Given the description of an element on the screen output the (x, y) to click on. 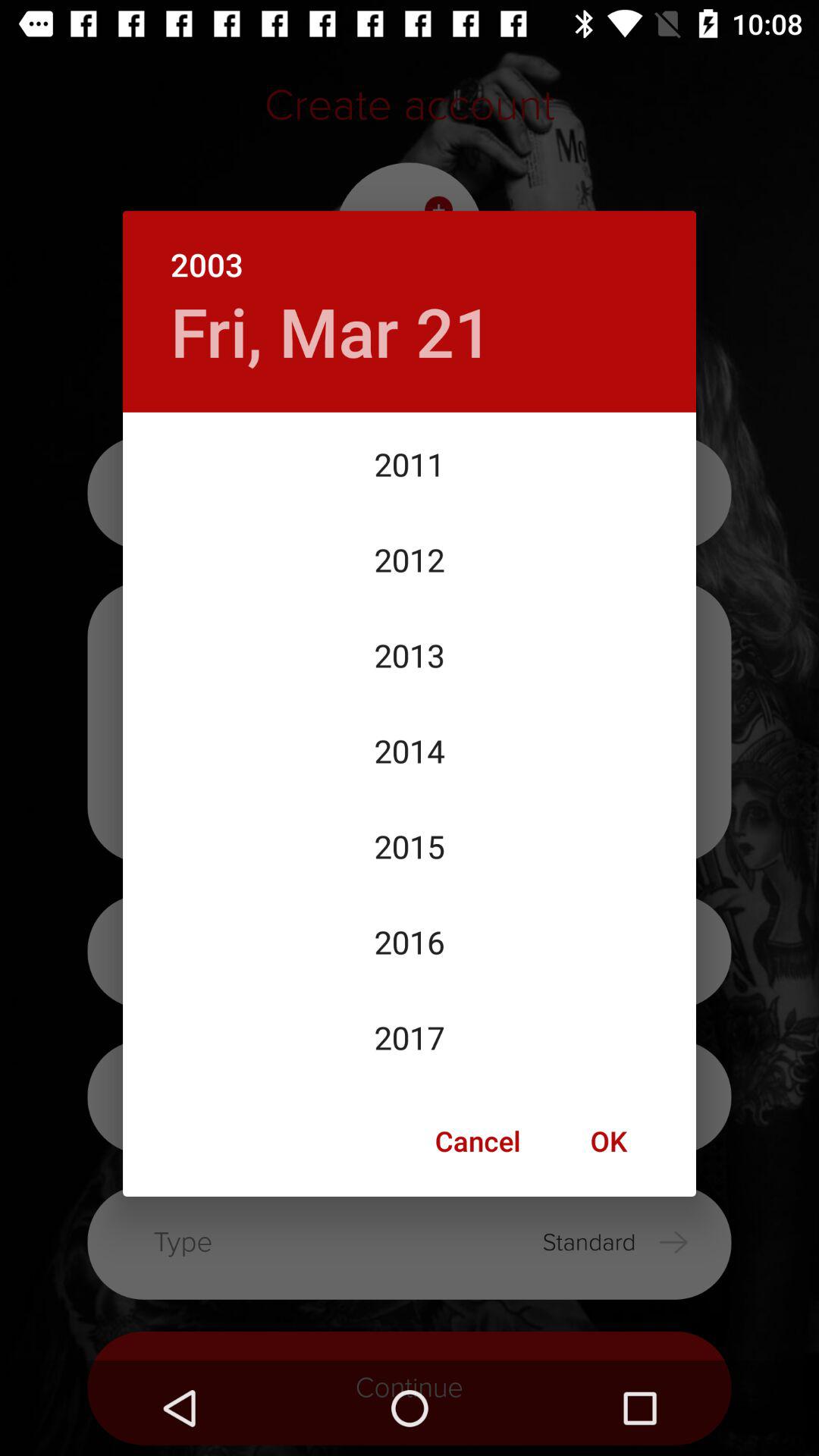
tap 2003 icon (409, 248)
